Given the description of an element on the screen output the (x, y) to click on. 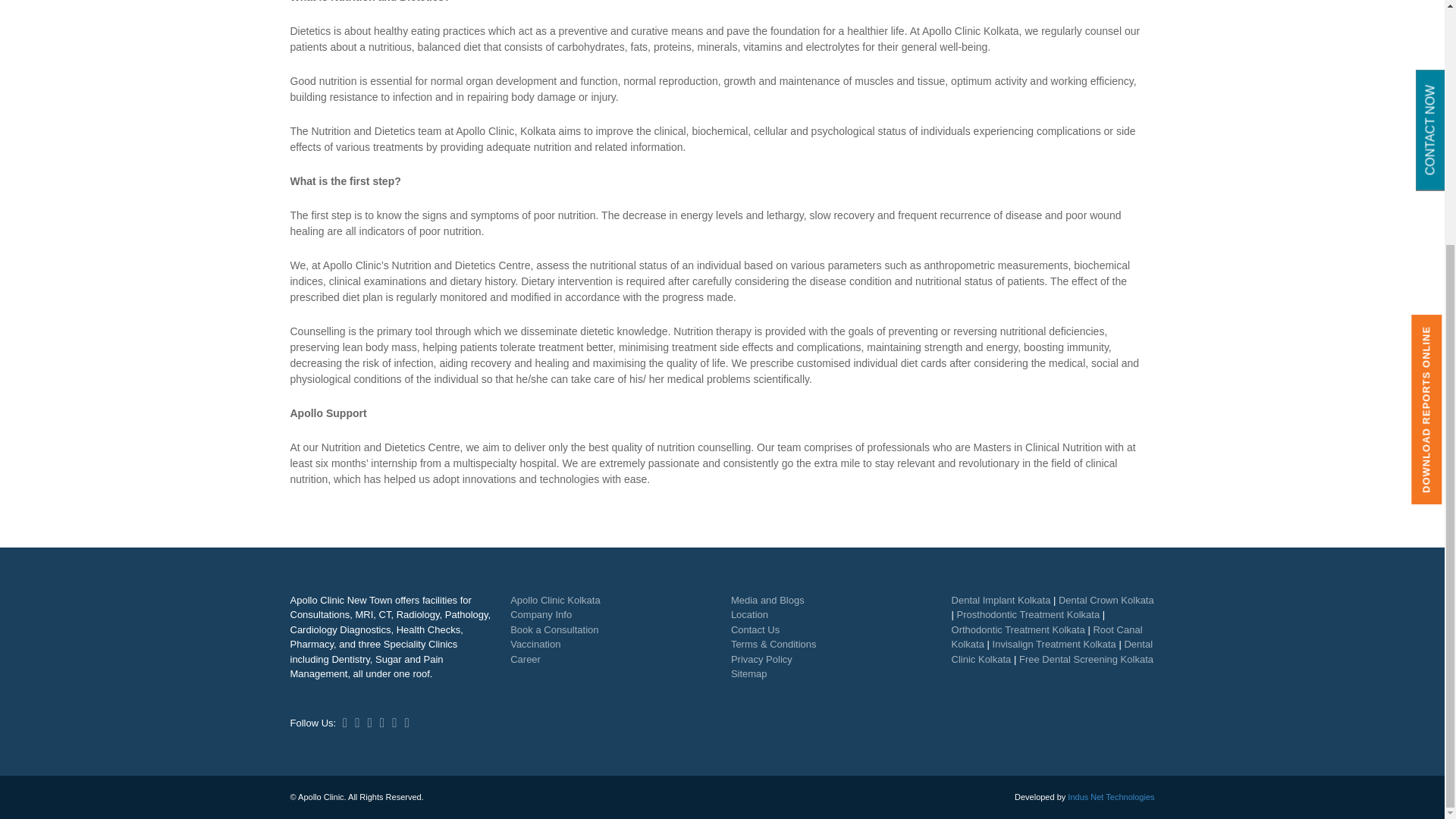
Contact Us (749, 614)
Home (555, 599)
